Given the description of an element on the screen output the (x, y) to click on. 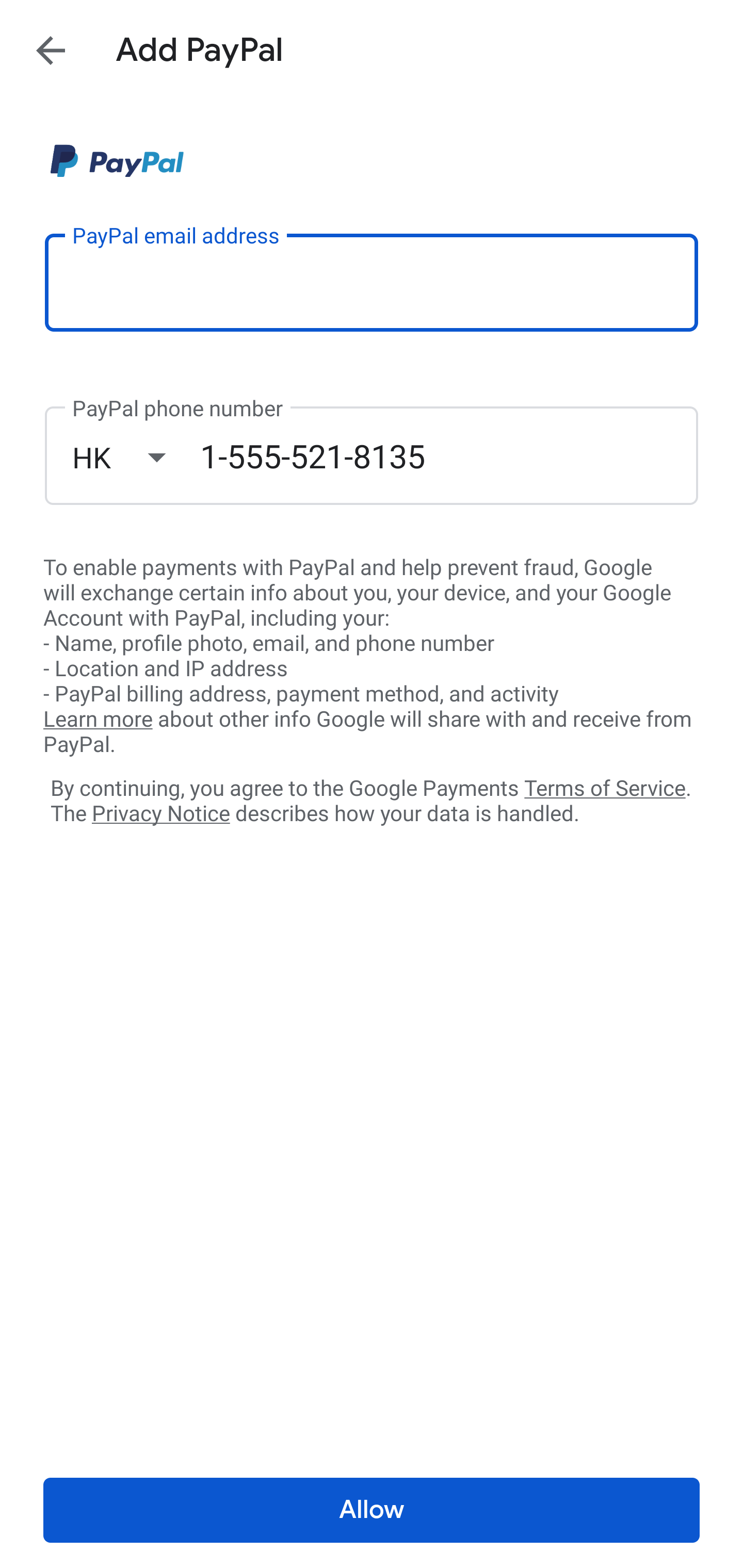
Navigate up (50, 50)
PayPal email address (371, 282)
HK (135, 456)
Learn more (97, 719)
Terms of Service (604, 787)
Privacy Notice (160, 814)
Allow (371, 1510)
